Given the description of an element on the screen output the (x, y) to click on. 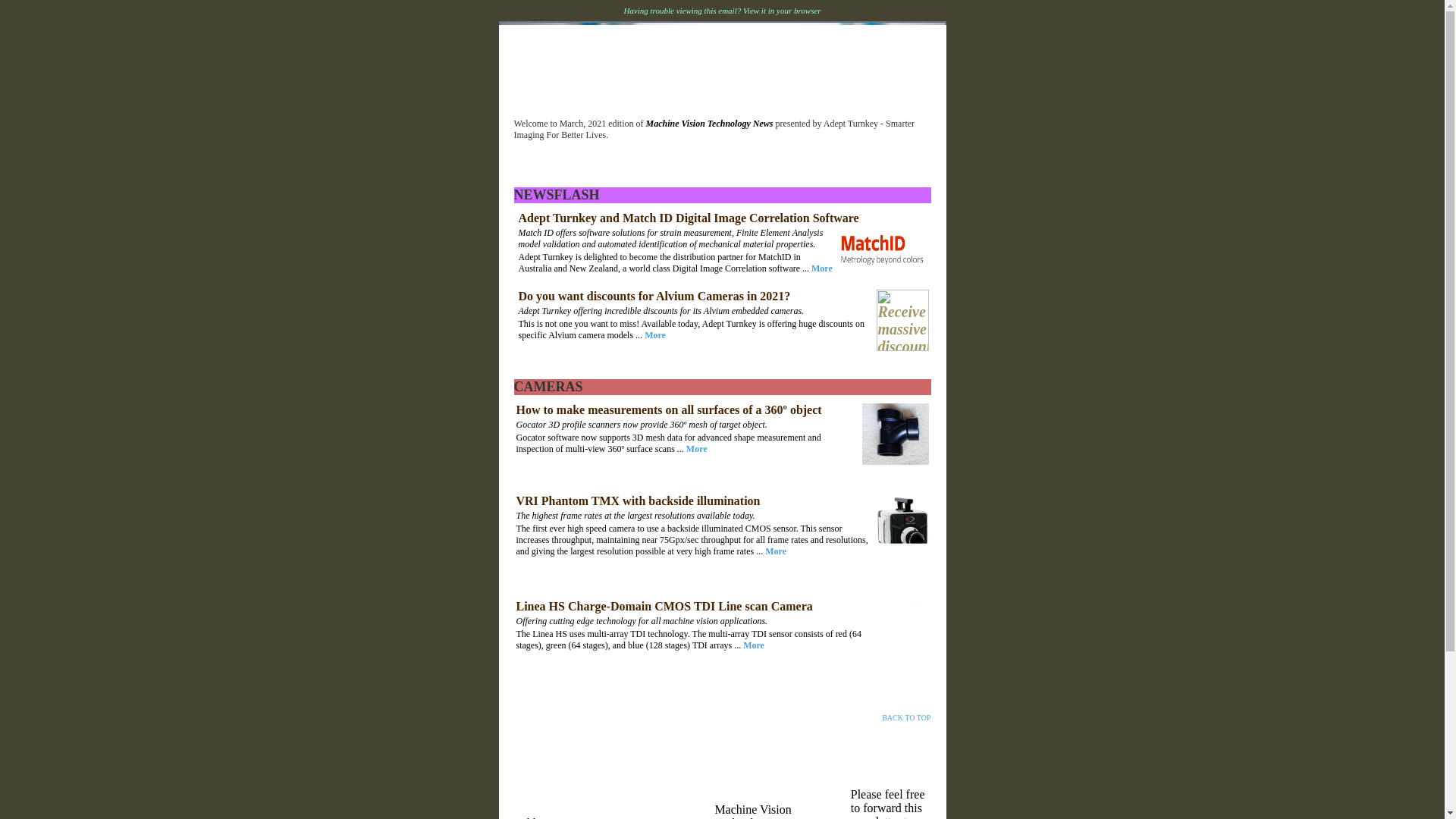
Adept Turnkey and Match ID partner-up (881, 248)
Gocator 3D mesh of objects (894, 434)
Having trouble viewing this email? View it in your browser (722, 10)
Linea HS CMOS TDI line scan camera (901, 627)
More (655, 335)
More (821, 267)
More (696, 448)
More (753, 644)
More (775, 551)
BACK TO TOP (906, 716)
